Given the description of an element on the screen output the (x, y) to click on. 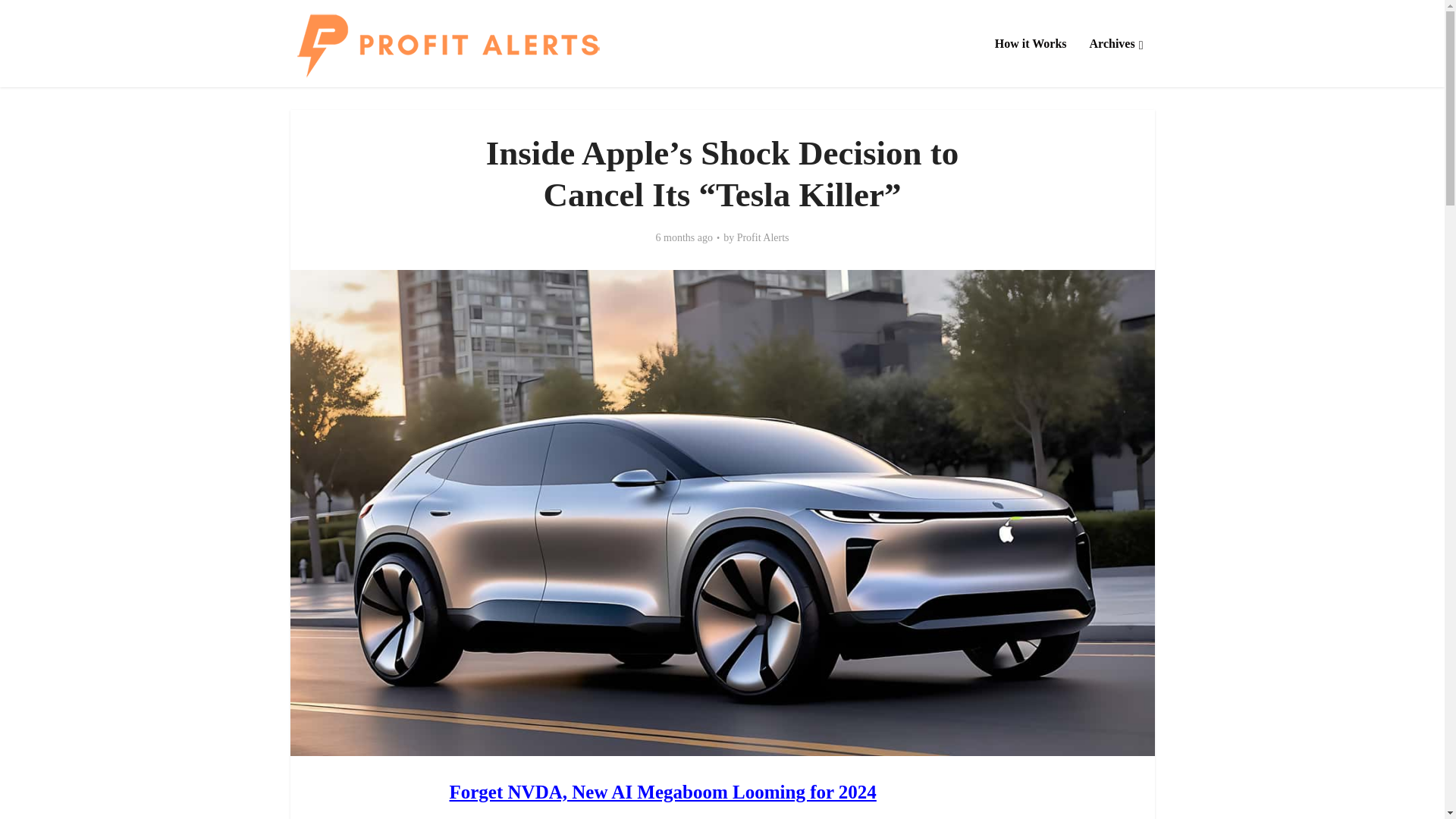
Profit Alerts (762, 237)
Forget NVDA, New AI Megaboom Looming for 2024 (662, 792)
Profit Alerts (447, 45)
How it Works (1031, 43)
